Given the description of an element on the screen output the (x, y) to click on. 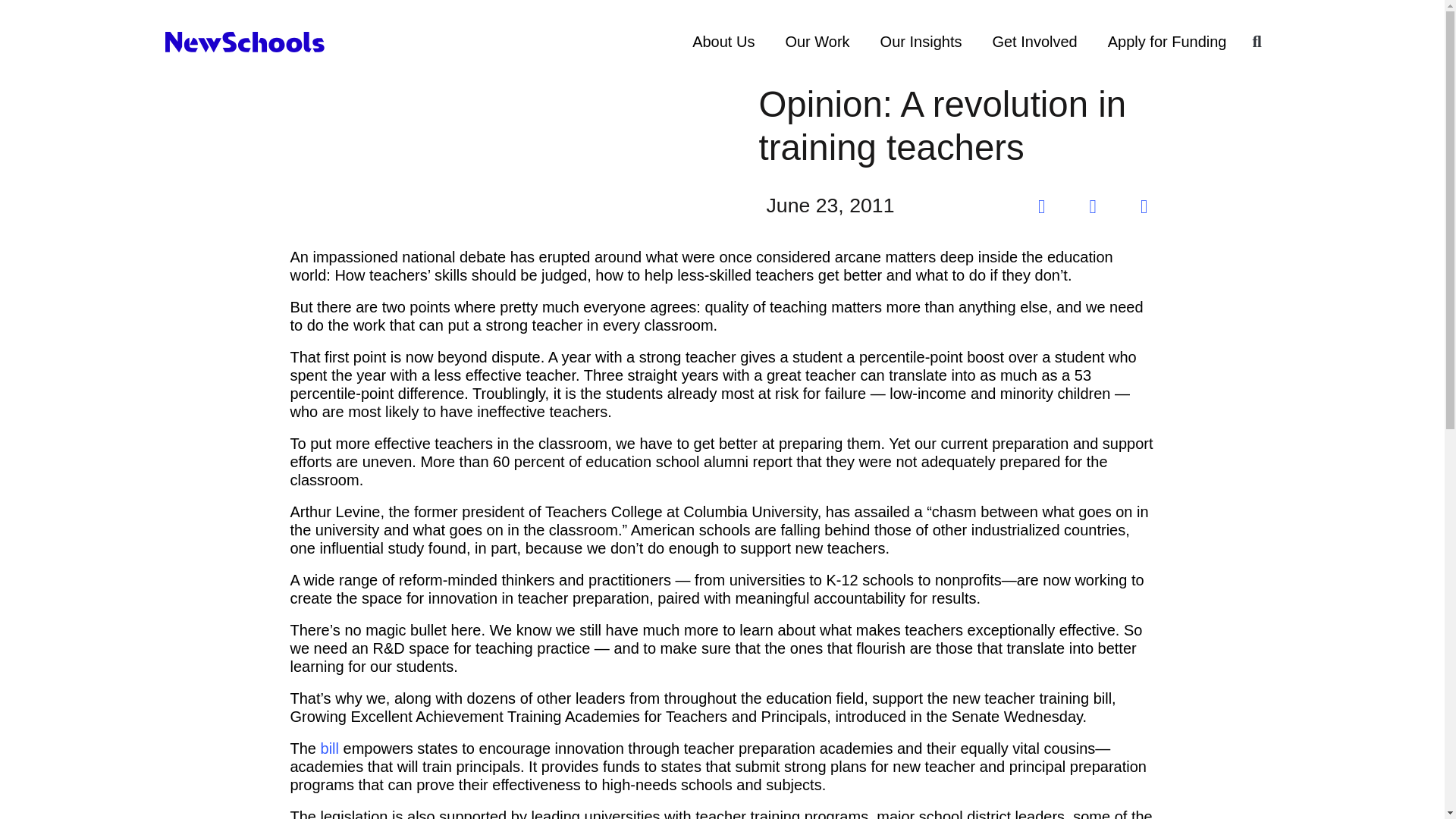
Our Work (817, 41)
Get Involved (1034, 41)
About Us (723, 41)
Apply for Funding (1167, 41)
bill (329, 748)
Our Insights (920, 41)
